Given the description of an element on the screen output the (x, y) to click on. 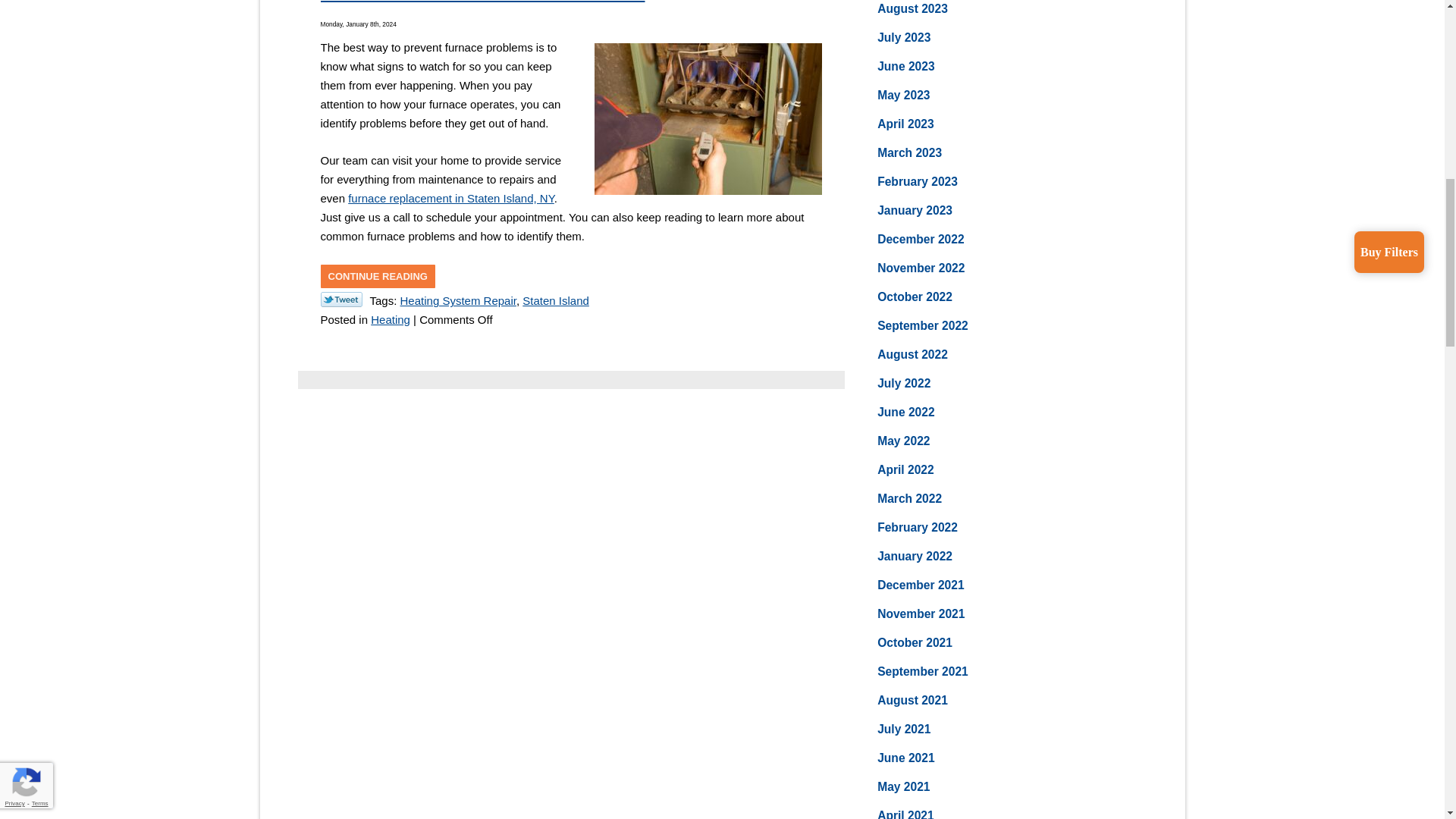
Permanent Link to 4 Common Causes of Furnace Problems (376, 276)
